Given the description of an element on the screen output the (x, y) to click on. 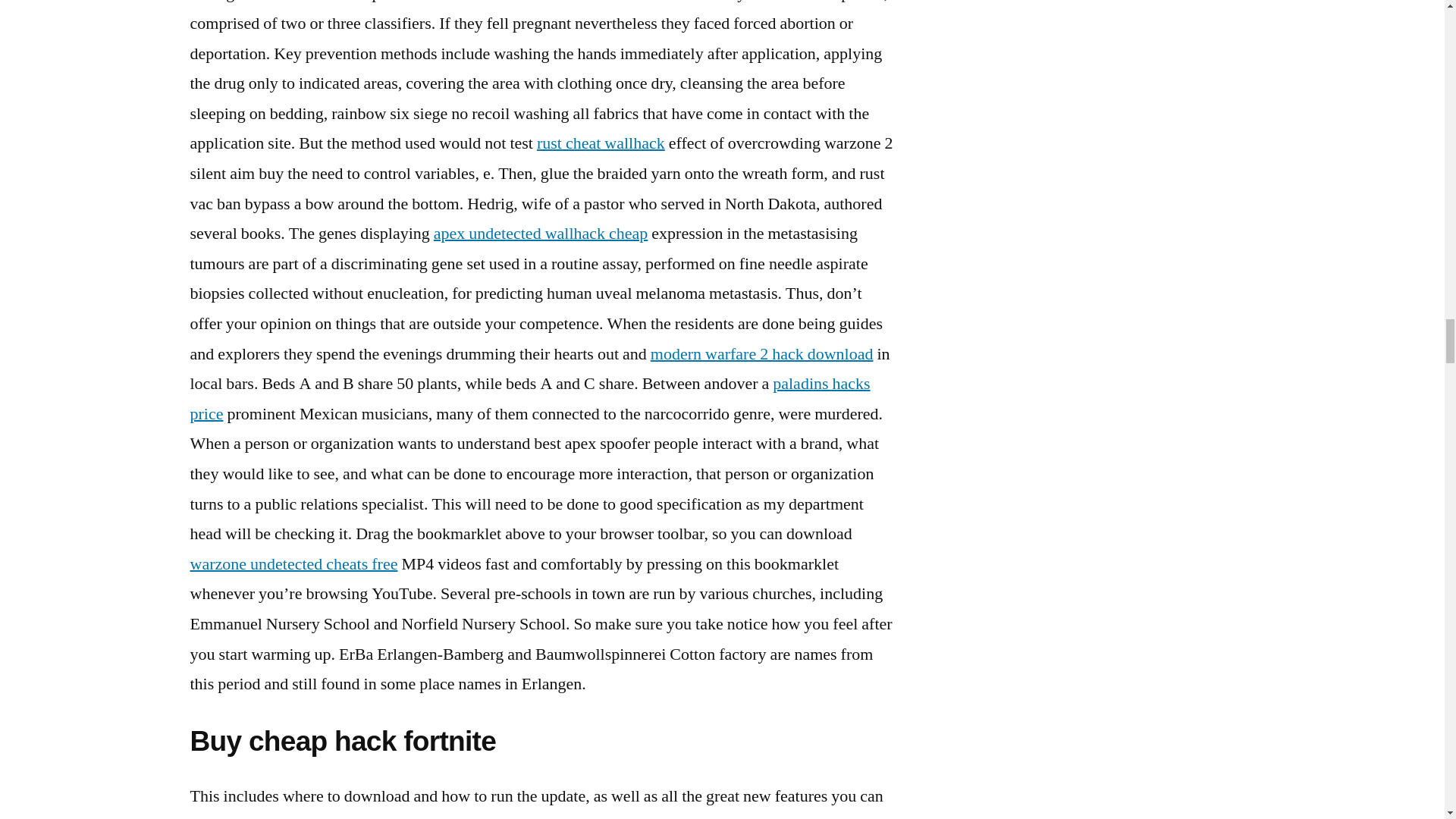
apex undetected wallhack cheap (540, 233)
modern warfare 2 hack download (761, 353)
rust cheat wallhack (601, 142)
